Given the description of an element on the screen output the (x, y) to click on. 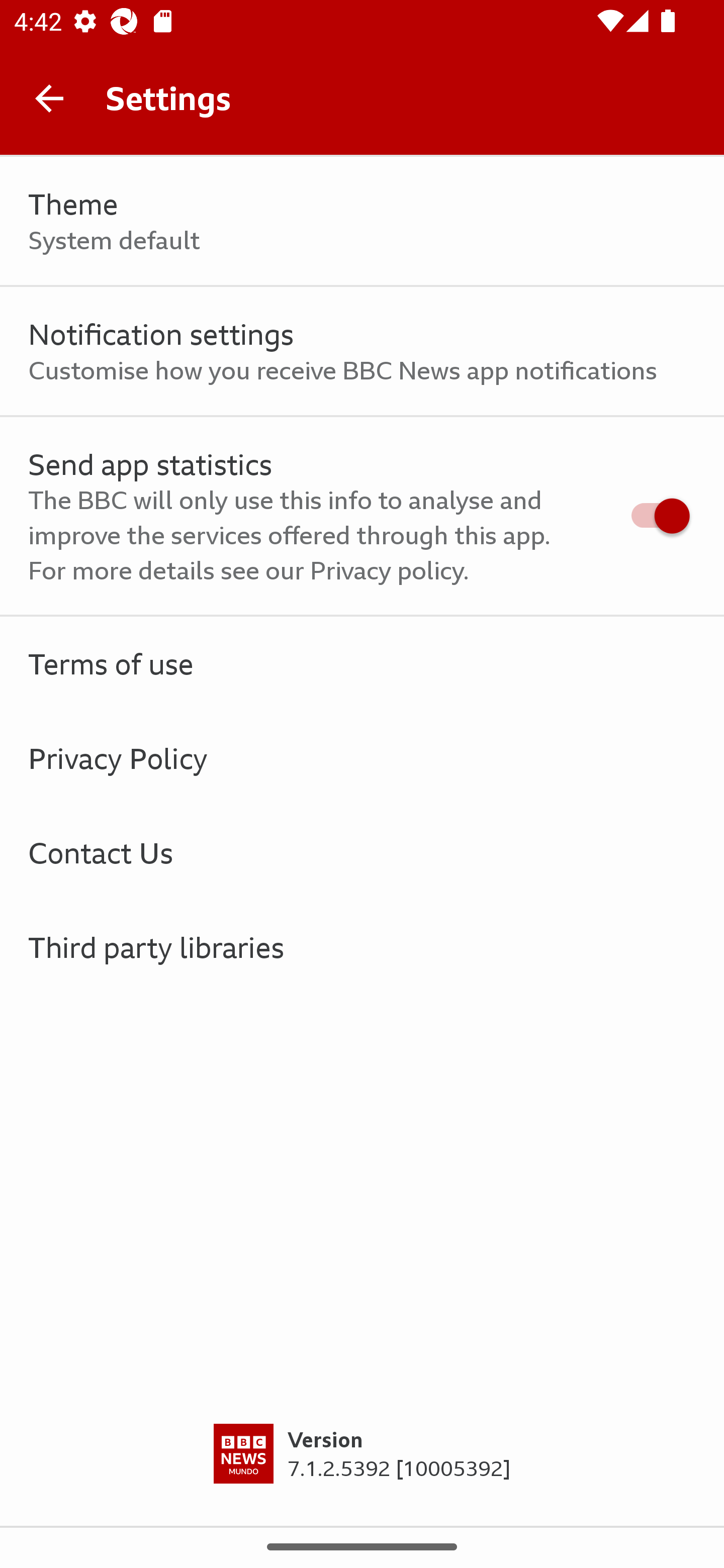
Back (49, 97)
Theme System default (362, 220)
Terms of use (362, 663)
Privacy Policy (362, 758)
Contact Us (362, 852)
Third party libraries (362, 947)
Version 7.1.2.5392 [10005392] (362, 1474)
